Given the description of an element on the screen output the (x, y) to click on. 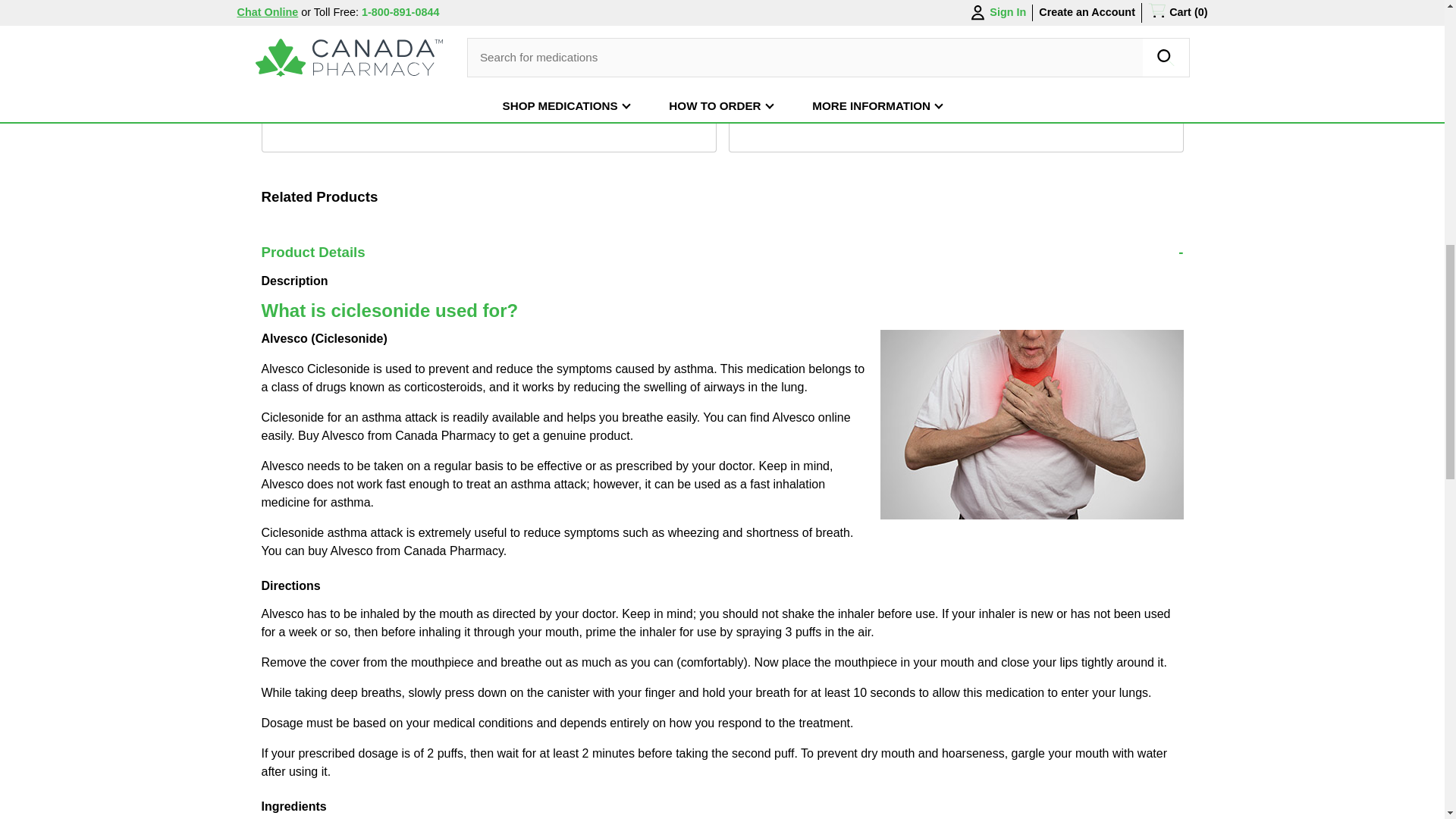
Add To Cart (644, 4)
Add To Cart (644, 4)
